Given the description of an element on the screen output the (x, y) to click on. 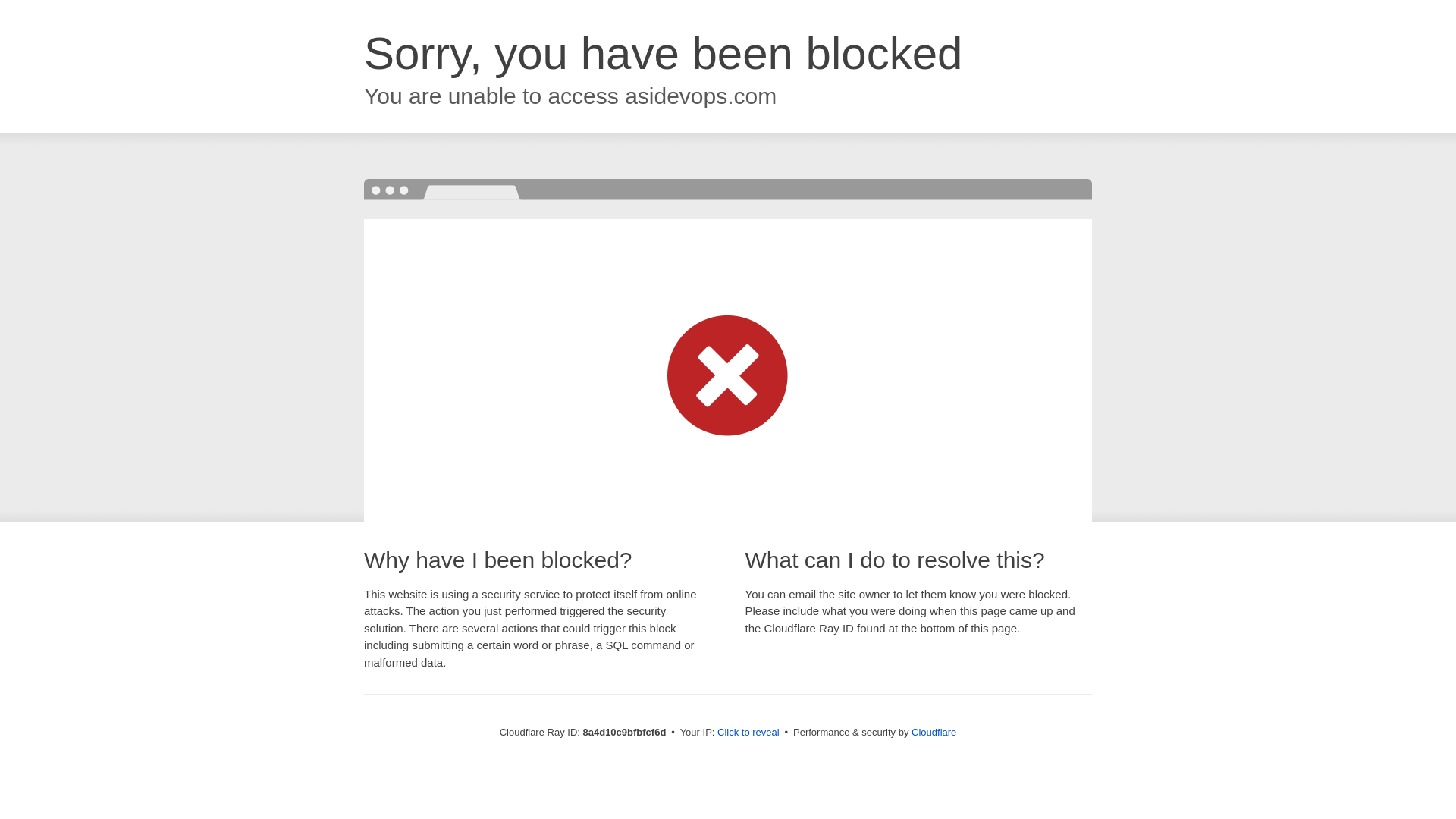
Cloudflare (933, 731)
Click to reveal (747, 732)
